Given the description of an element on the screen output the (x, y) to click on. 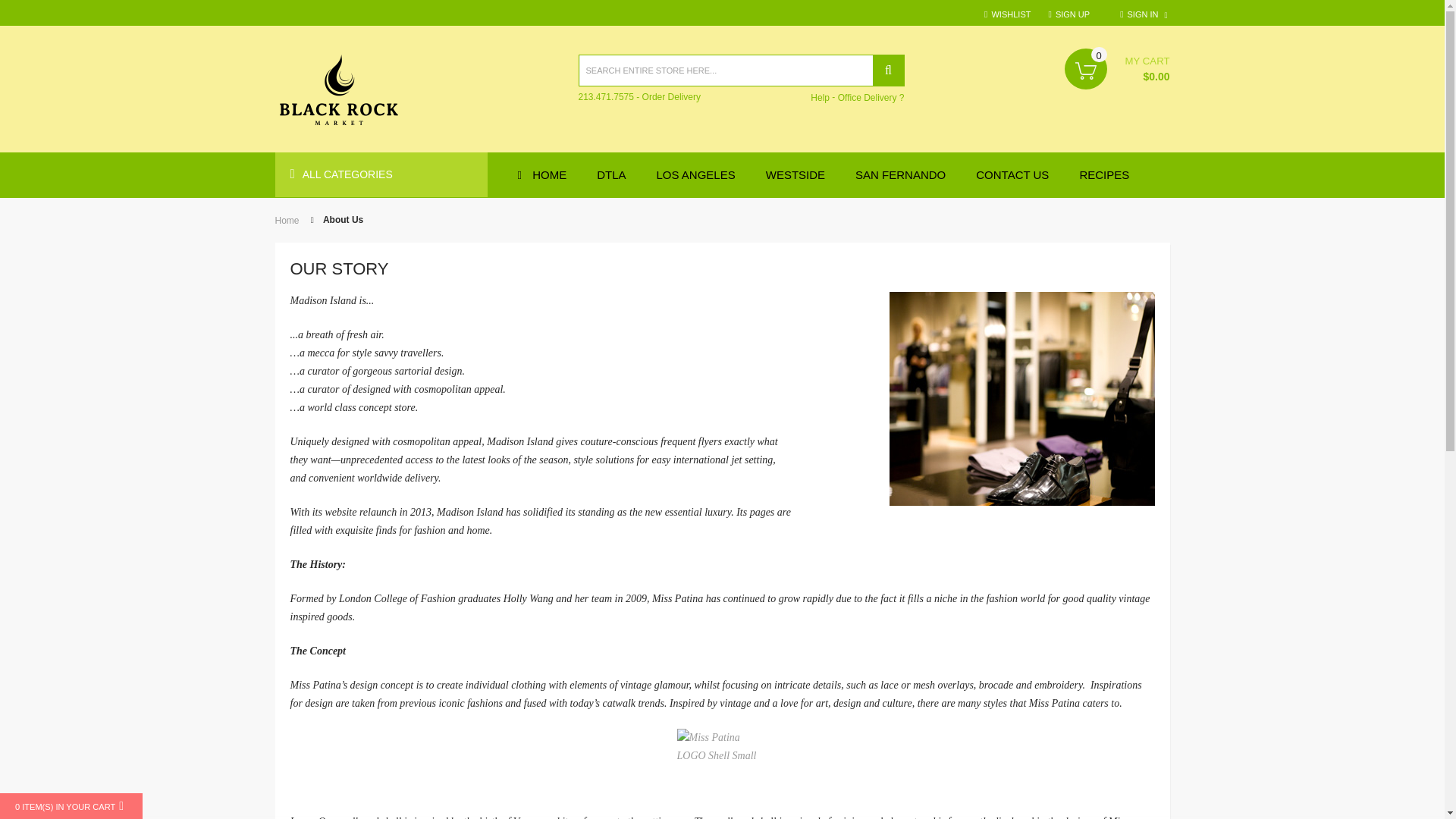
Office Delivery (871, 96)
Help (819, 96)
Office Delivery ? (871, 96)
Go to Home Page (286, 219)
WISHLIST (1007, 14)
Help (819, 96)
SIGN IN (1144, 14)
Magento Commerce (338, 91)
SIGN UP (1068, 14)
Search (888, 70)
SEARCH (888, 70)
